Given the description of an element on the screen output the (x, y) to click on. 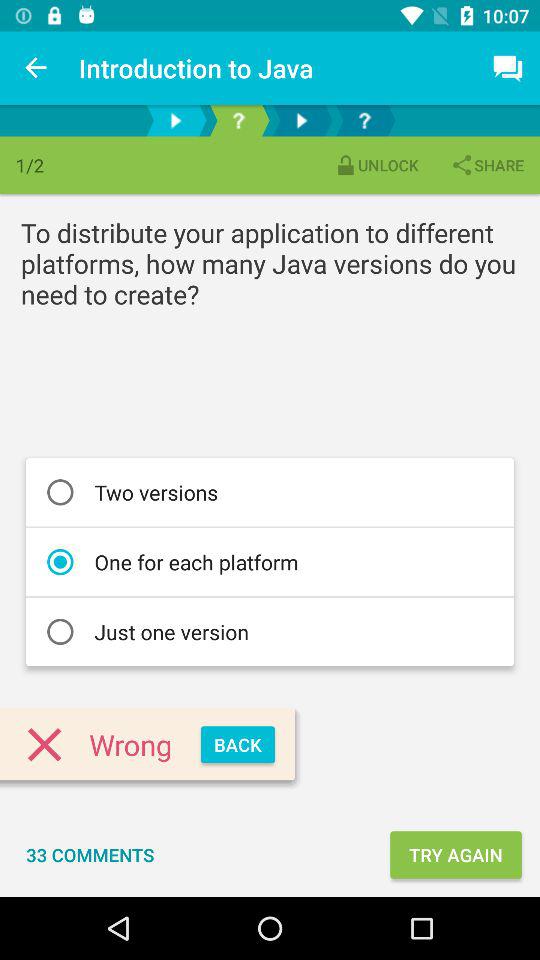
turn off item next to the unlock item (487, 164)
